Given the description of an element on the screen output the (x, y) to click on. 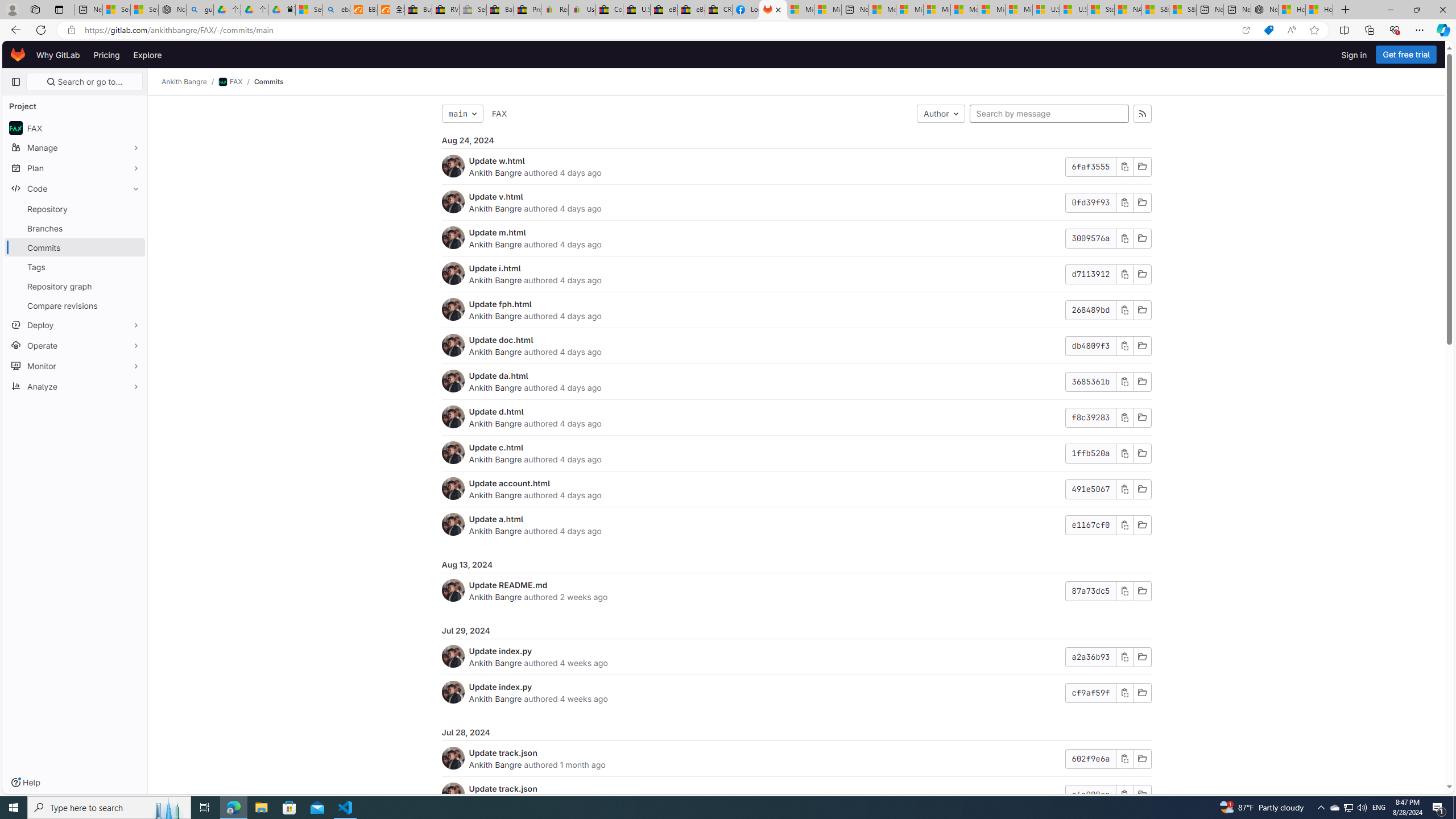
Shopping in Microsoft Edge (1268, 29)
Ankith Bangre (495, 764)
Plan (74, 167)
Update fph.html (499, 303)
FAX/ (236, 81)
U.S. State Privacy Disclosures - eBay Inc. (636, 9)
Get free trial (1406, 54)
S&P 500, Nasdaq end lower, weighed by Nvidia dip | Watch (1182, 9)
guge yunpan - Search (200, 9)
Monitor (74, 365)
Homepage (17, 54)
Update m.html (496, 232)
